Given the description of an element on the screen output the (x, y) to click on. 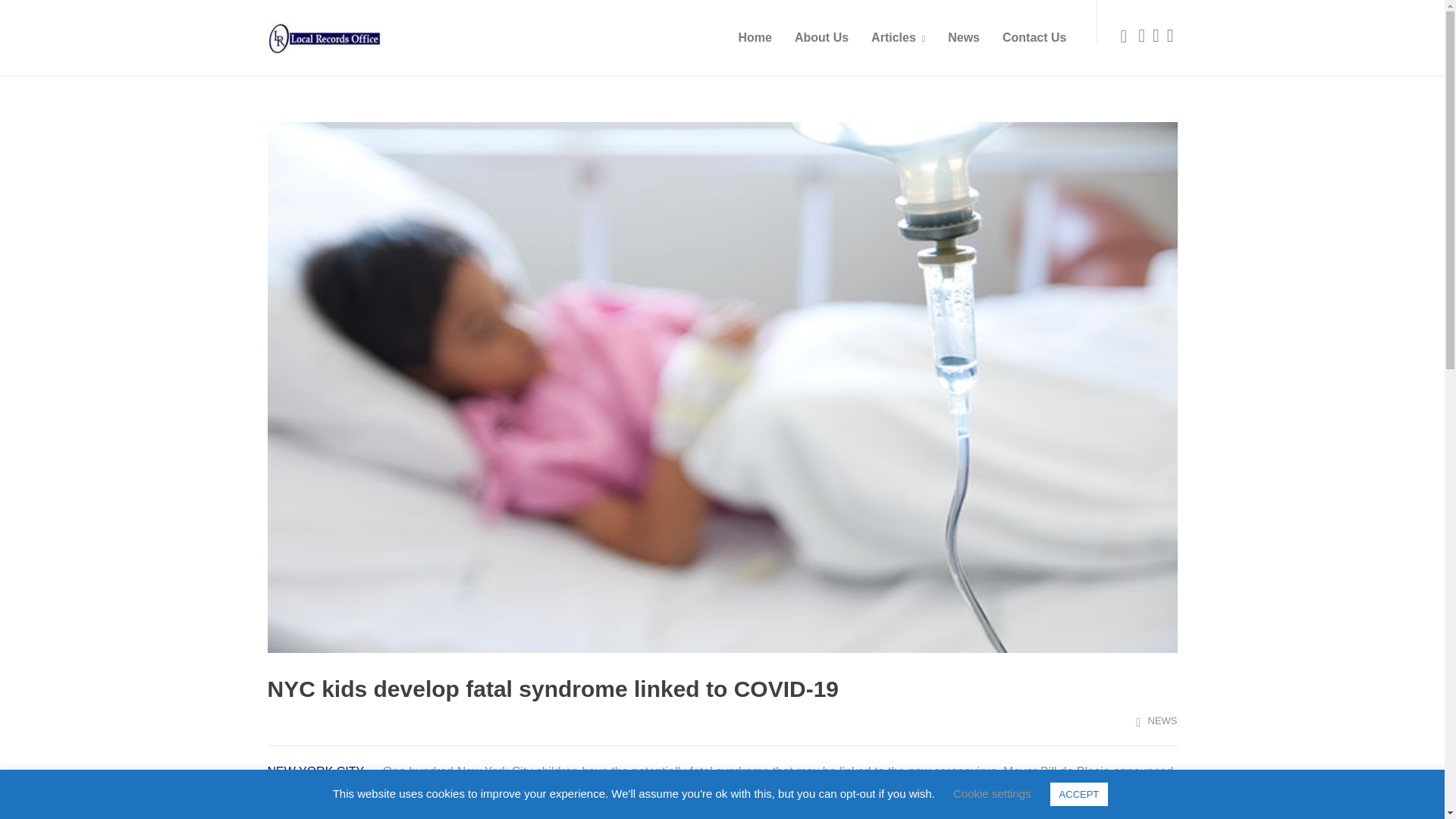
NEW YORK CITY (314, 771)
NYC kids develop fatal syndrome linked to COVID-19 (721, 683)
NEWS (1162, 720)
